Given the description of an element on the screen output the (x, y) to click on. 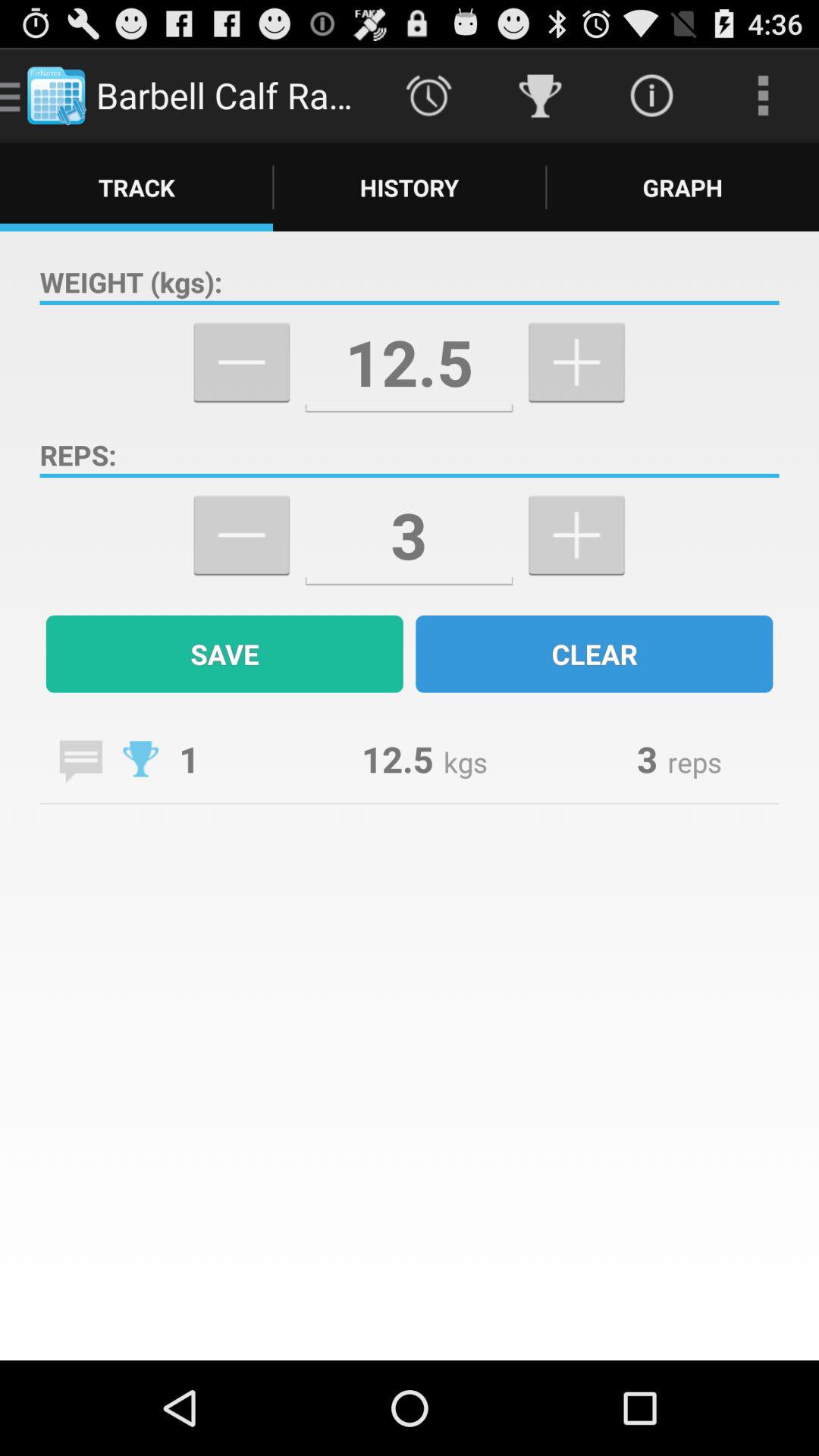
leave comment (80, 761)
